Given the description of an element on the screen output the (x, y) to click on. 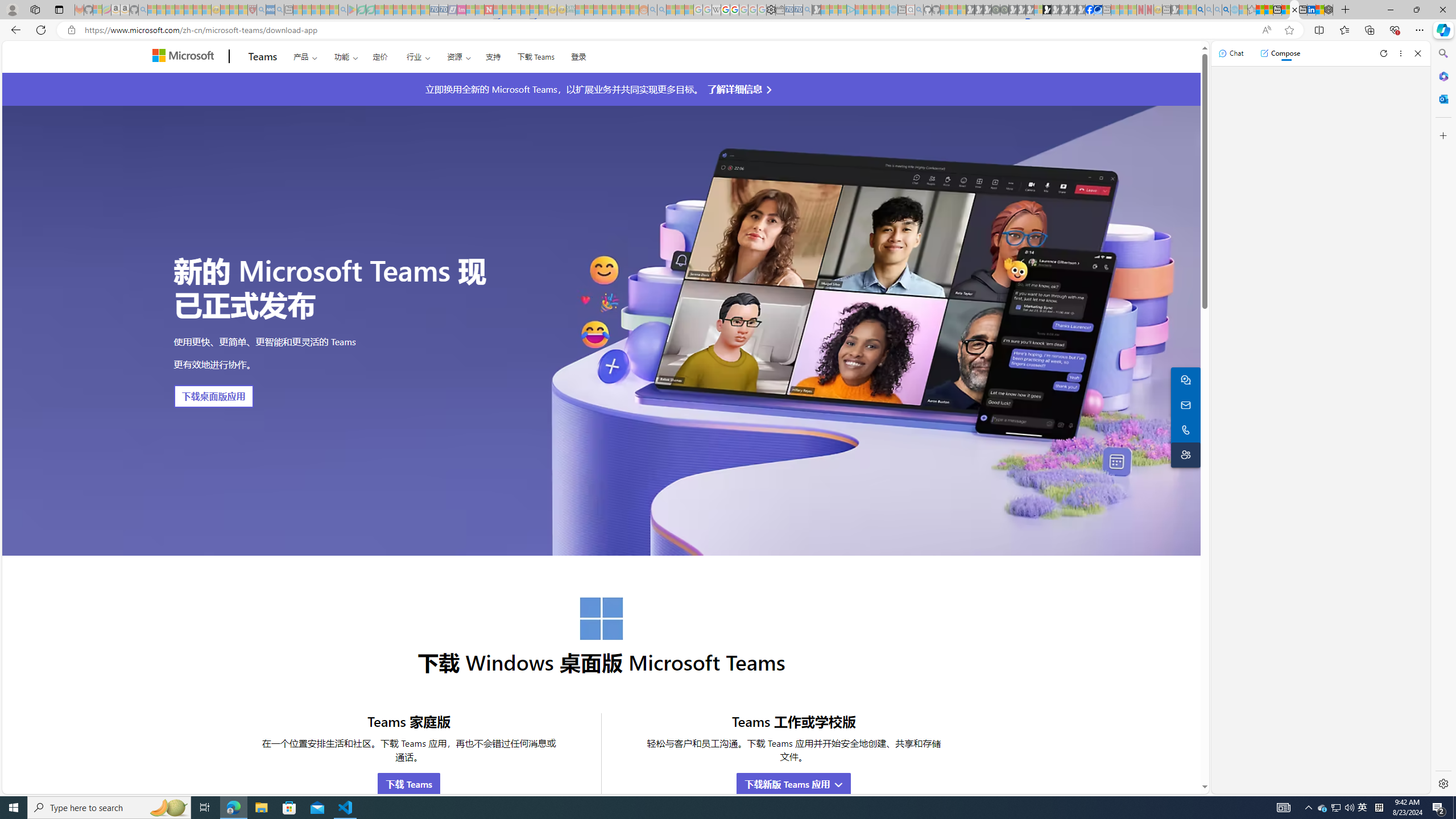
Compose (1279, 52)
AQI & Health | AirNow.gov (1098, 9)
